Given the description of an element on the screen output the (x, y) to click on. 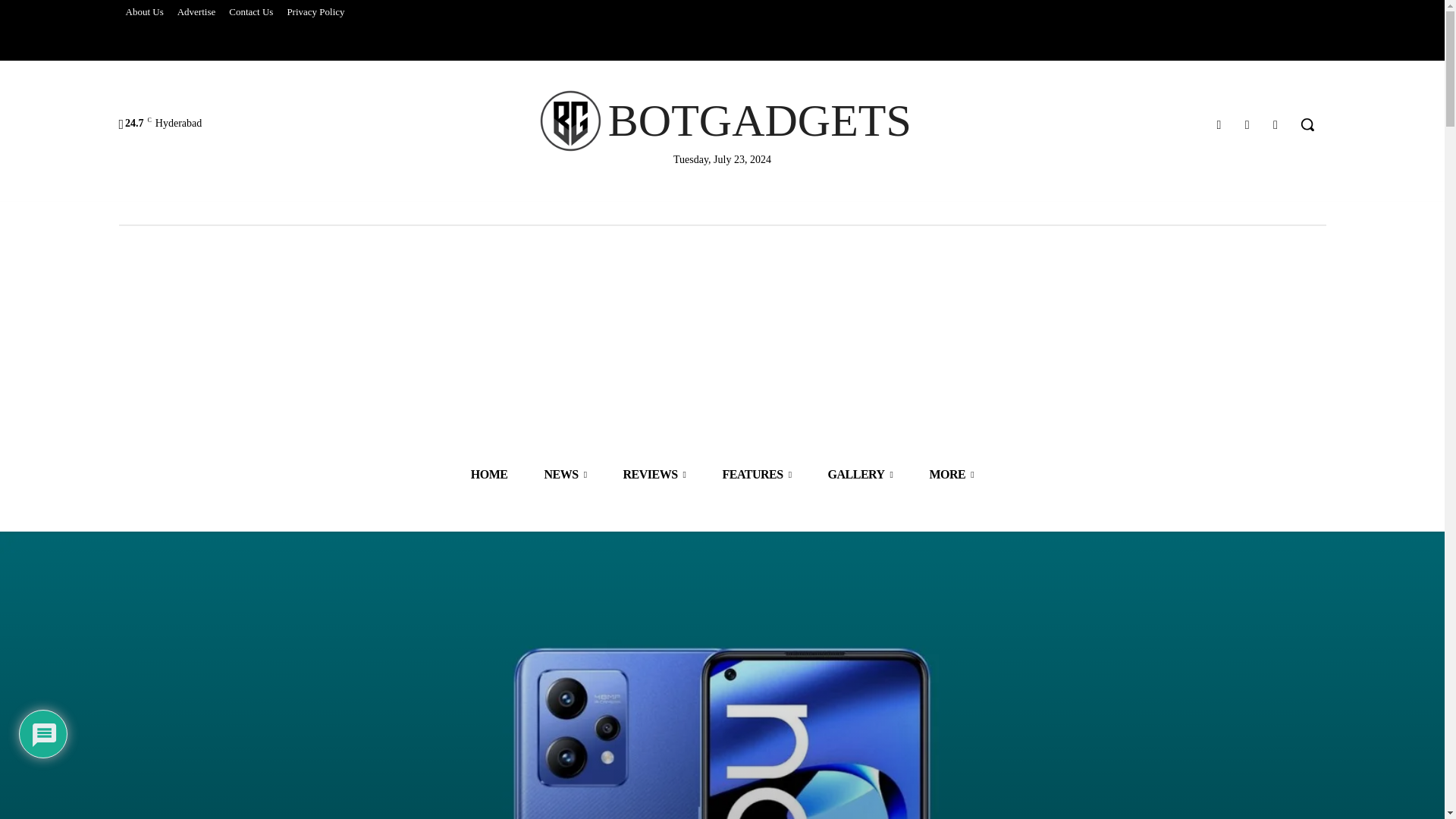
Advertise (196, 12)
Youtube (1275, 124)
Twitter (1246, 124)
About Us (143, 12)
Facebook (1218, 124)
